Given the description of an element on the screen output the (x, y) to click on. 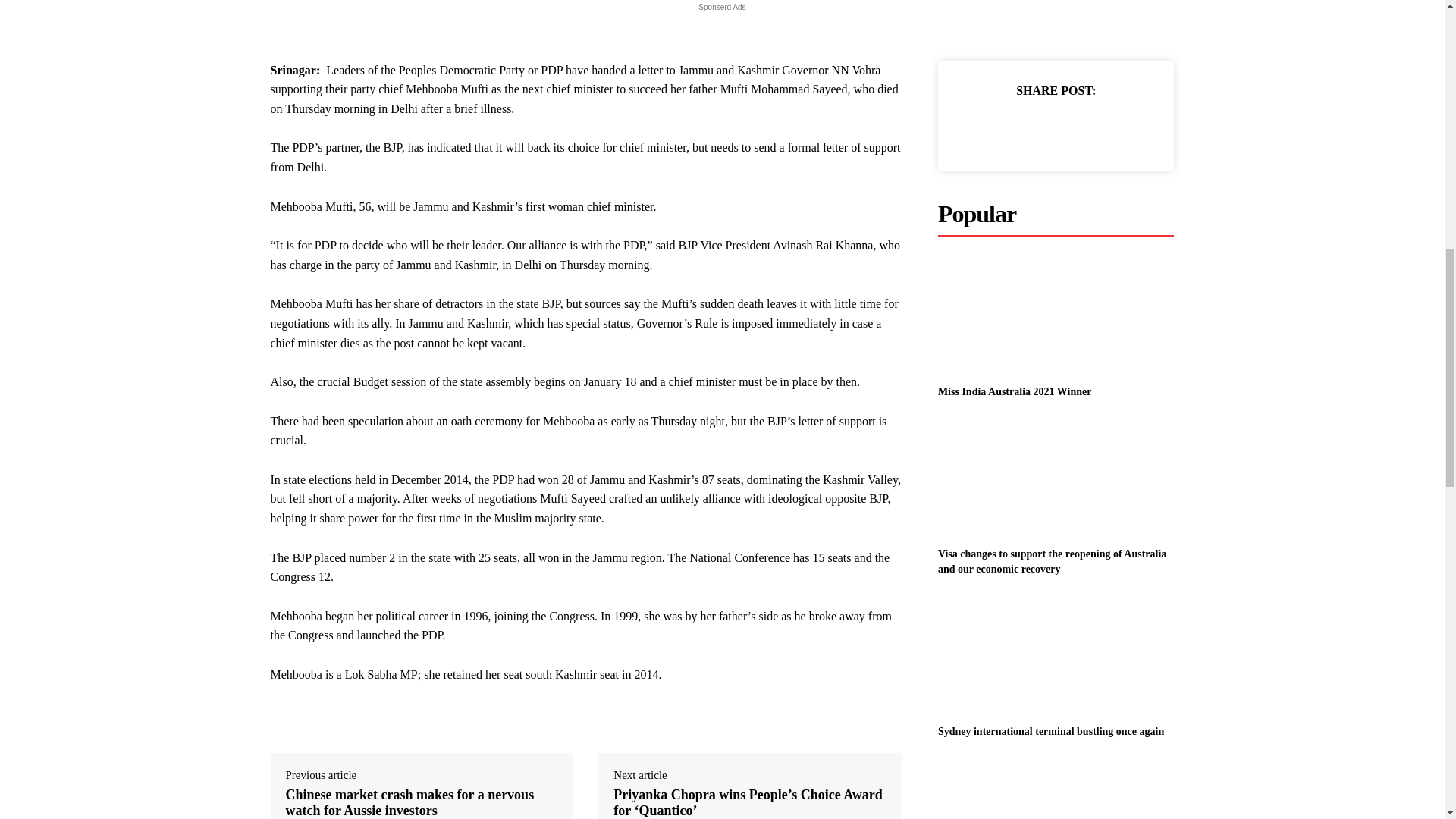
Miss India Australia 2021 Winner (1014, 391)
Miss India Australia 2021 Winner (1055, 315)
Sydney international terminal bustling once again (1055, 655)
